Given the description of an element on the screen output the (x, y) to click on. 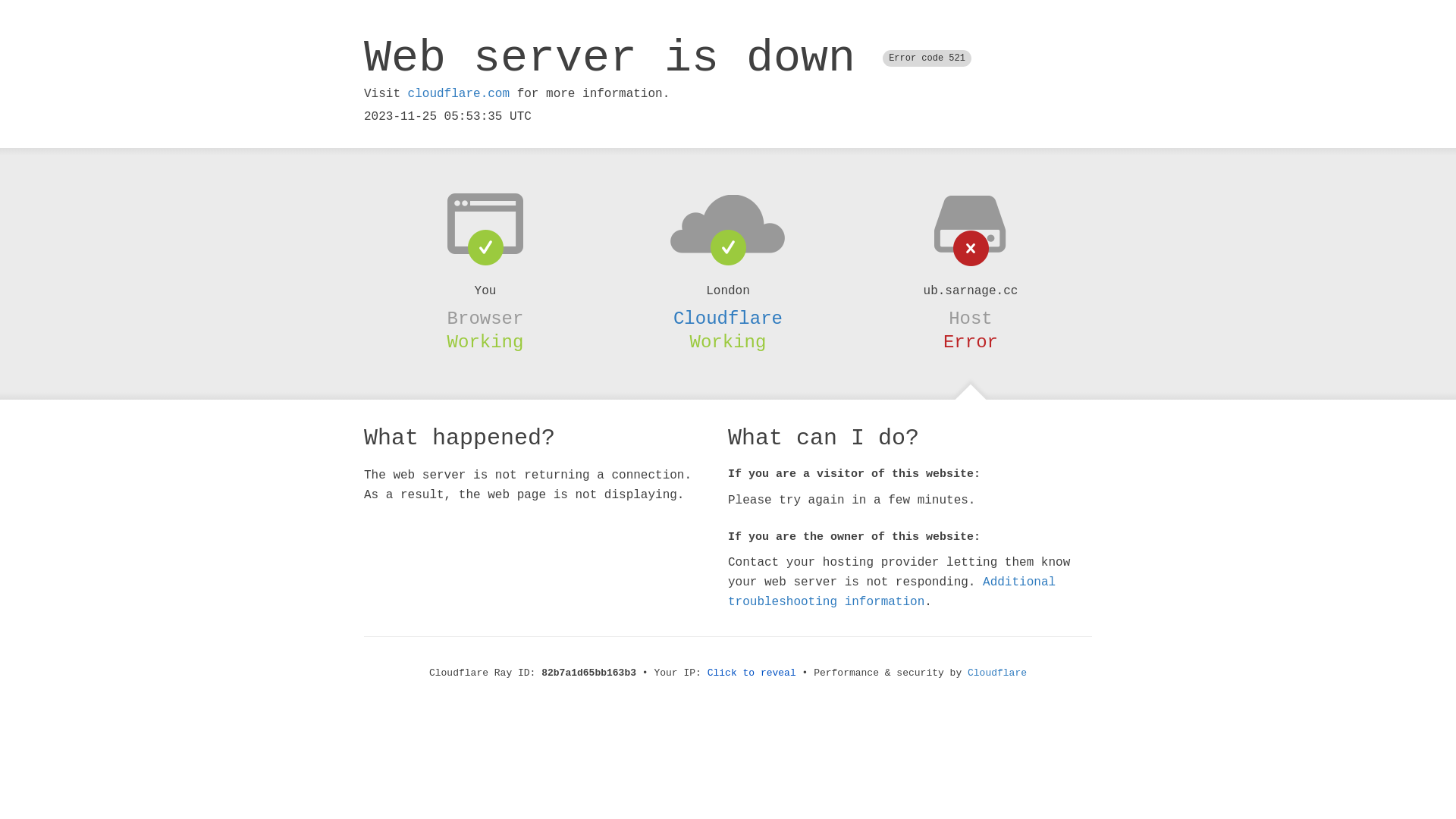
cloudflare.com Element type: text (458, 93)
Cloudflare Element type: text (727, 318)
Additional troubleshooting information Element type: text (891, 591)
Cloudflare Element type: text (996, 672)
Click to reveal Element type: text (751, 672)
